Given the description of an element on the screen output the (x, y) to click on. 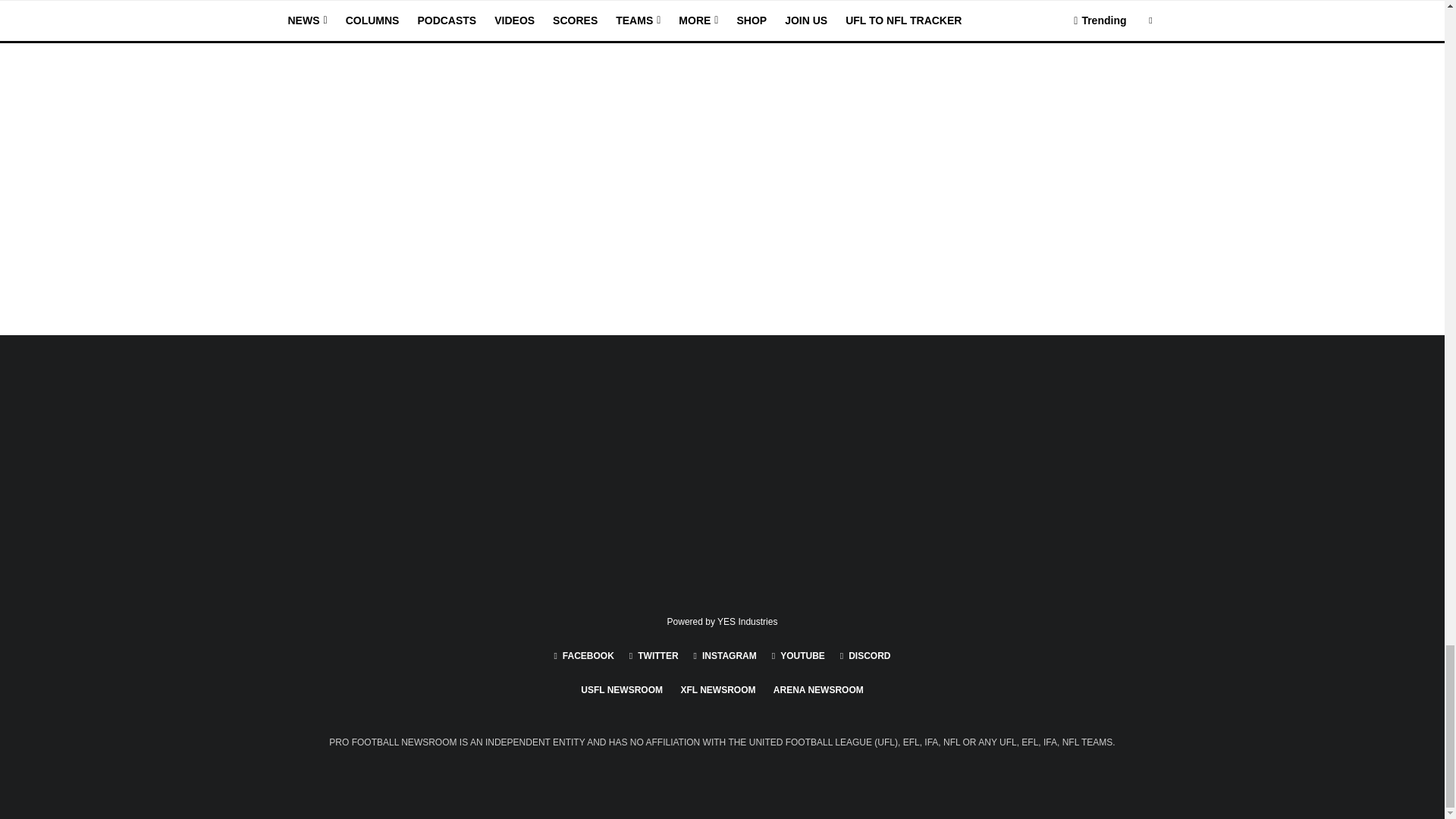
Comment Form (571, 100)
